Given the description of an element on the screen output the (x, y) to click on. 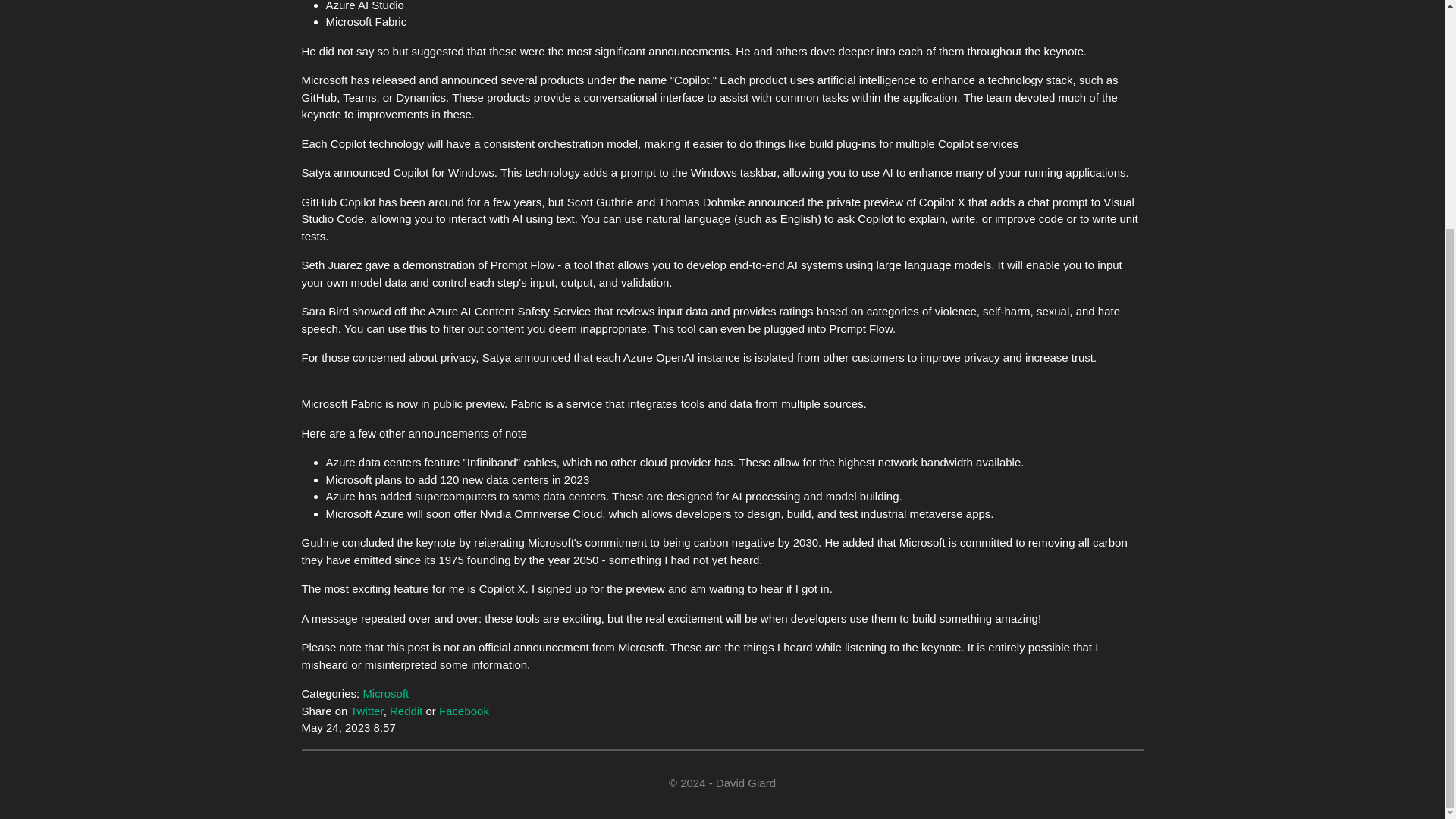
Twitter (366, 710)
Facebook (464, 710)
Reddit (406, 710)
Microsoft (385, 693)
